Given the description of an element on the screen output the (x, y) to click on. 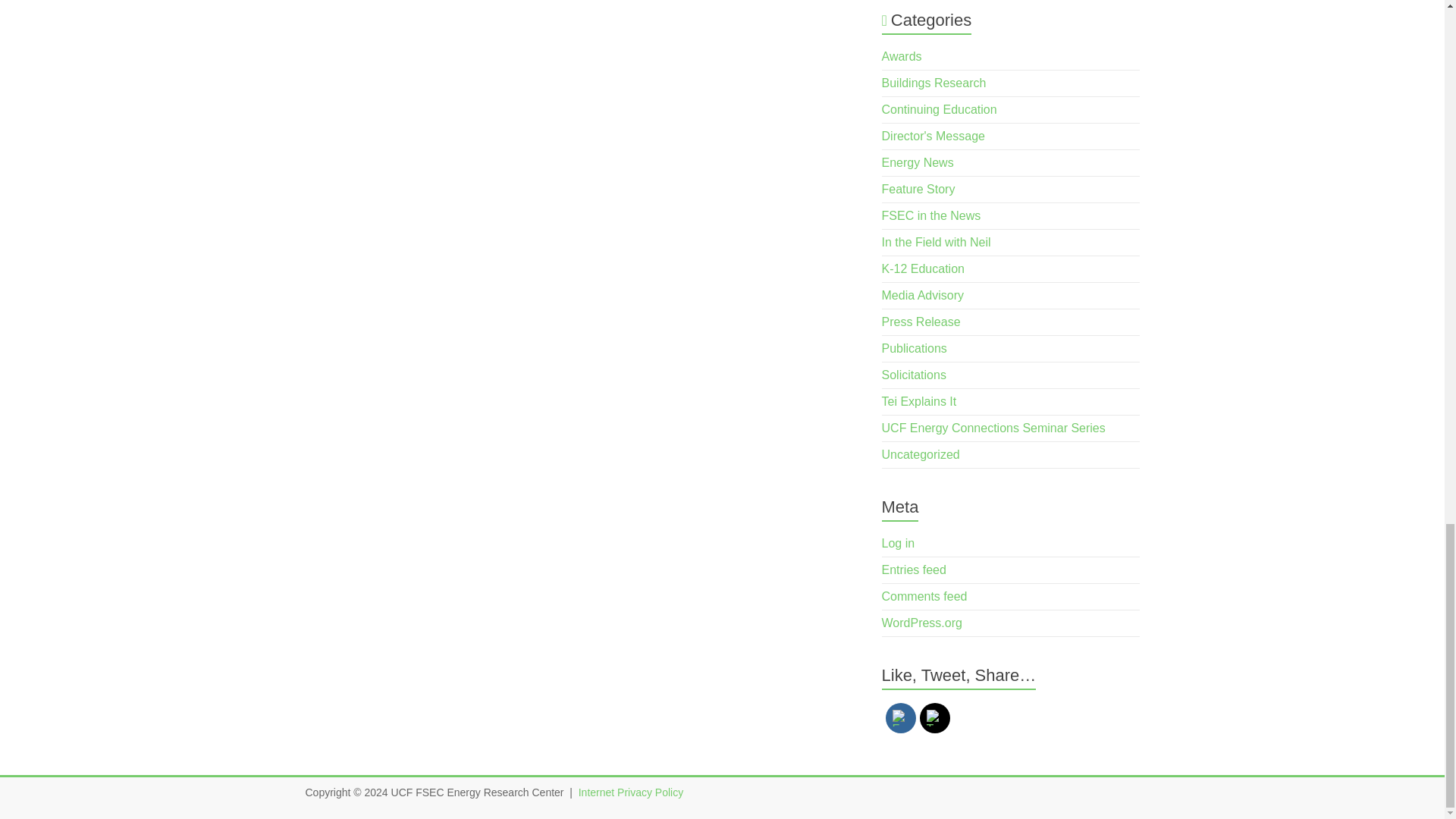
Continuing Education (939, 109)
Awards (901, 56)
Twitter (934, 718)
FSEC in the News (931, 215)
Feature Story (918, 188)
In the Field with Neil (936, 241)
Buildings Research (934, 82)
Facebook (900, 718)
Director's Message (933, 135)
Media Advisory (922, 295)
